Given the description of an element on the screen output the (x, y) to click on. 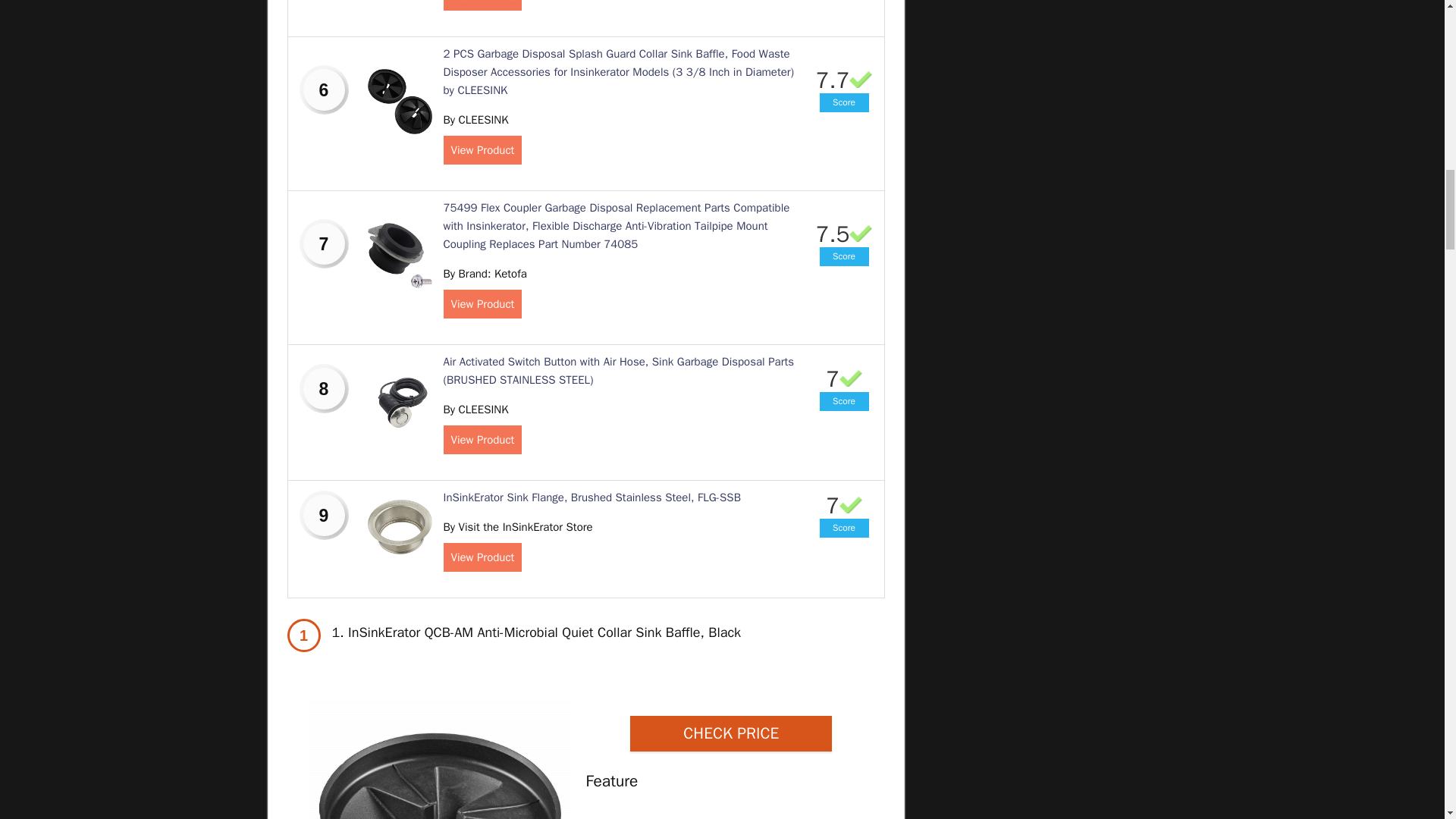
View Product (481, 149)
View Product (481, 5)
By CLEESINK (475, 119)
